Given the description of an element on the screen output the (x, y) to click on. 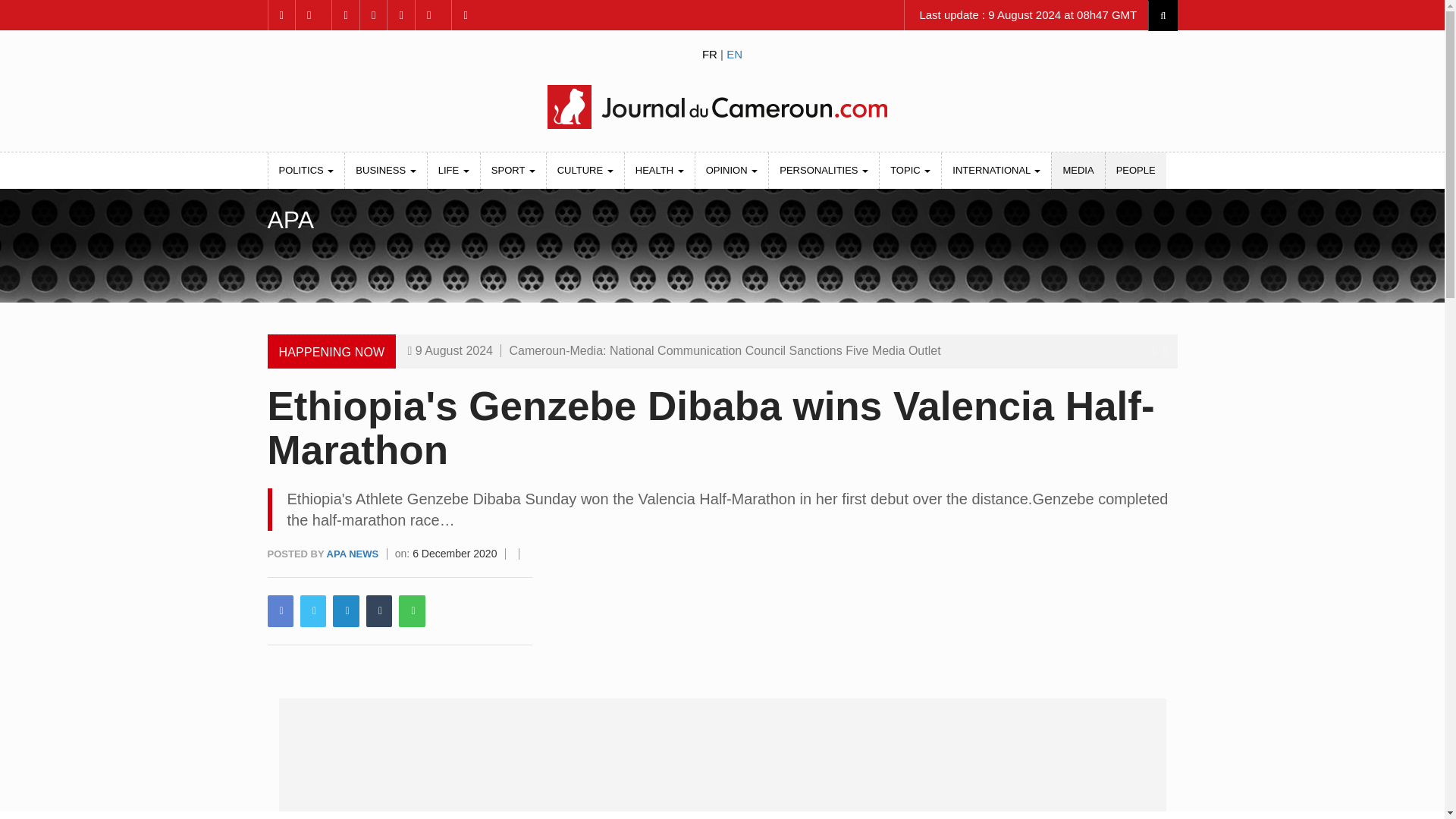
POLITICS (306, 170)
Last update : 9 August 2024 at 08h47 GMT (1026, 15)
JDC (721, 106)
EN (734, 53)
FR (709, 53)
BUSINESS (385, 170)
